Given the description of an element on the screen output the (x, y) to click on. 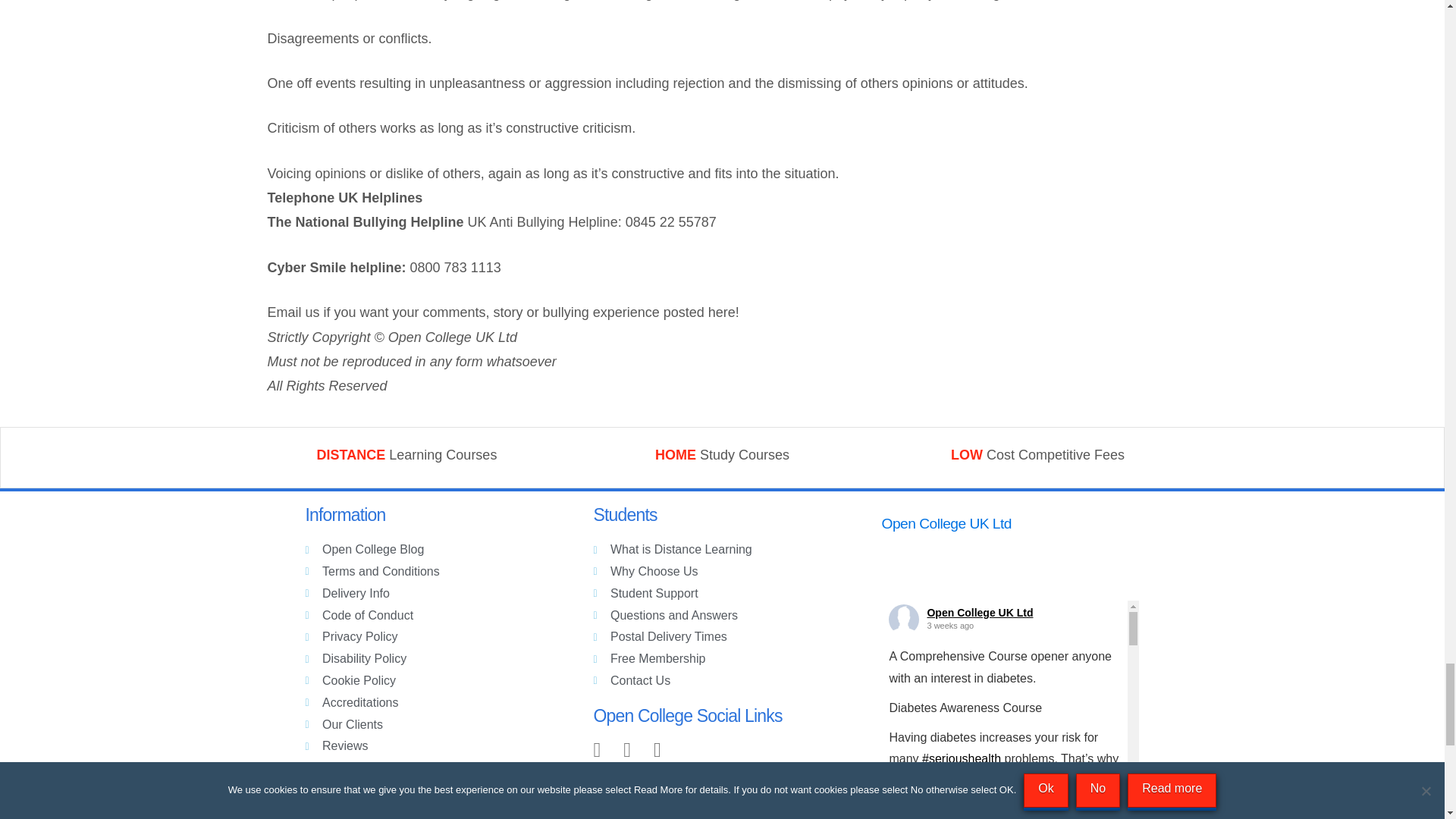
Open College UK Ltd (950, 525)
